Given the description of an element on the screen output the (x, y) to click on. 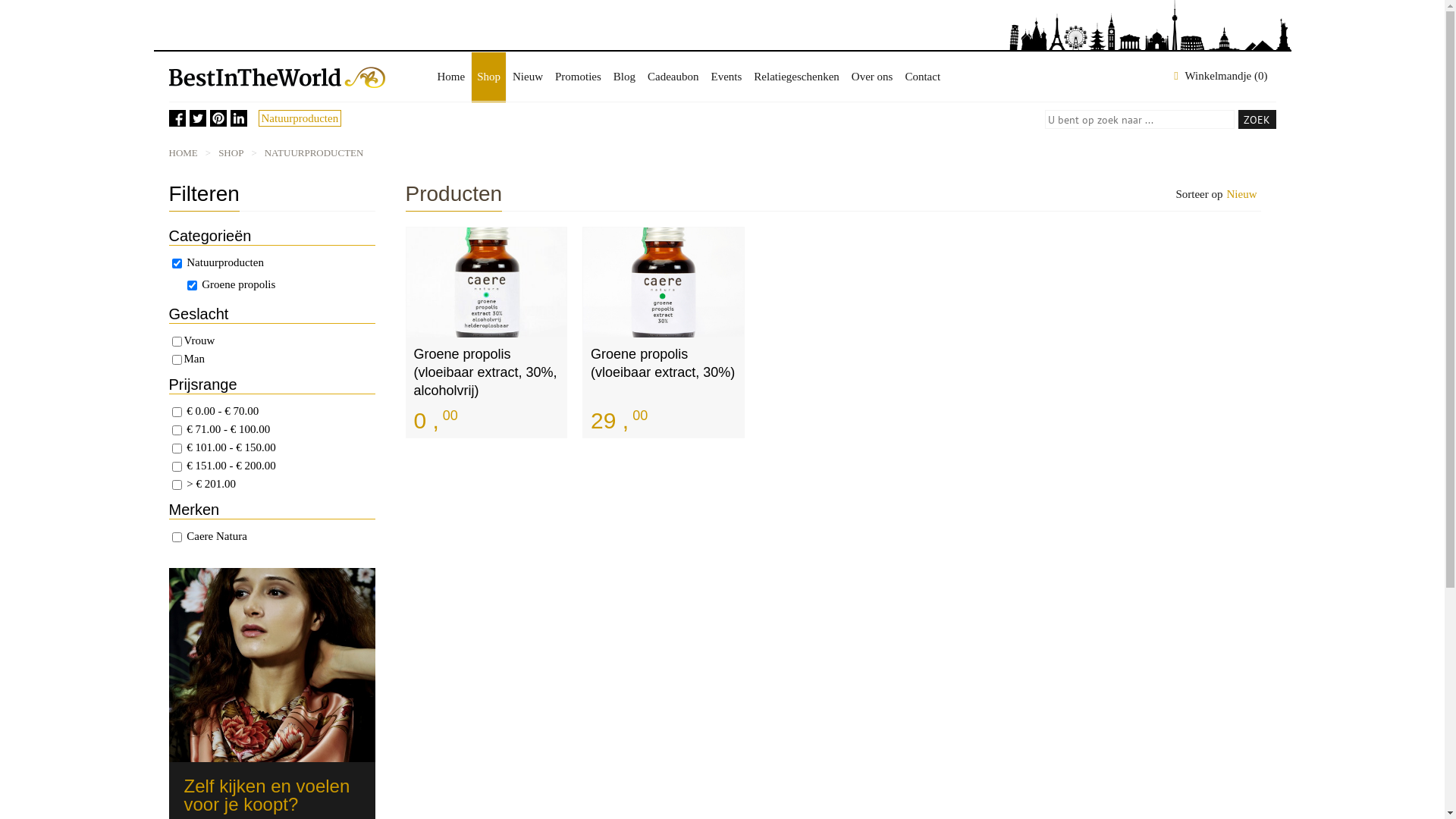
Natuurproducten Element type: text (299, 117)
HOME Element type: text (182, 152)
Zoek Element type: text (1256, 118)
Contact Element type: text (922, 76)
Cadeaubon Element type: text (672, 76)
NATUURPRODUCTEN Element type: text (314, 152)
Home Element type: text (450, 76)
Groene propolis (vloeibaar extract, 30%, alcoholvrij)
0 , 00 Element type: text (485, 332)
Promoties Element type: text (578, 76)
Over ons Element type: text (872, 76)
Events Element type: text (726, 76)
Shop Element type: text (488, 76)
Blog Element type: text (624, 76)
SHOP Element type: text (230, 152)
Groene propolis (vloeibaar extract, 30%)
29 , 00 Element type: text (663, 332)
Winkelmandje (0) Element type: text (1220, 75)
Nieuw Element type: text (527, 76)
Nieuw Element type: text (1241, 194)
Relatiegeschenken Element type: text (795, 76)
